Given the description of an element on the screen output the (x, y) to click on. 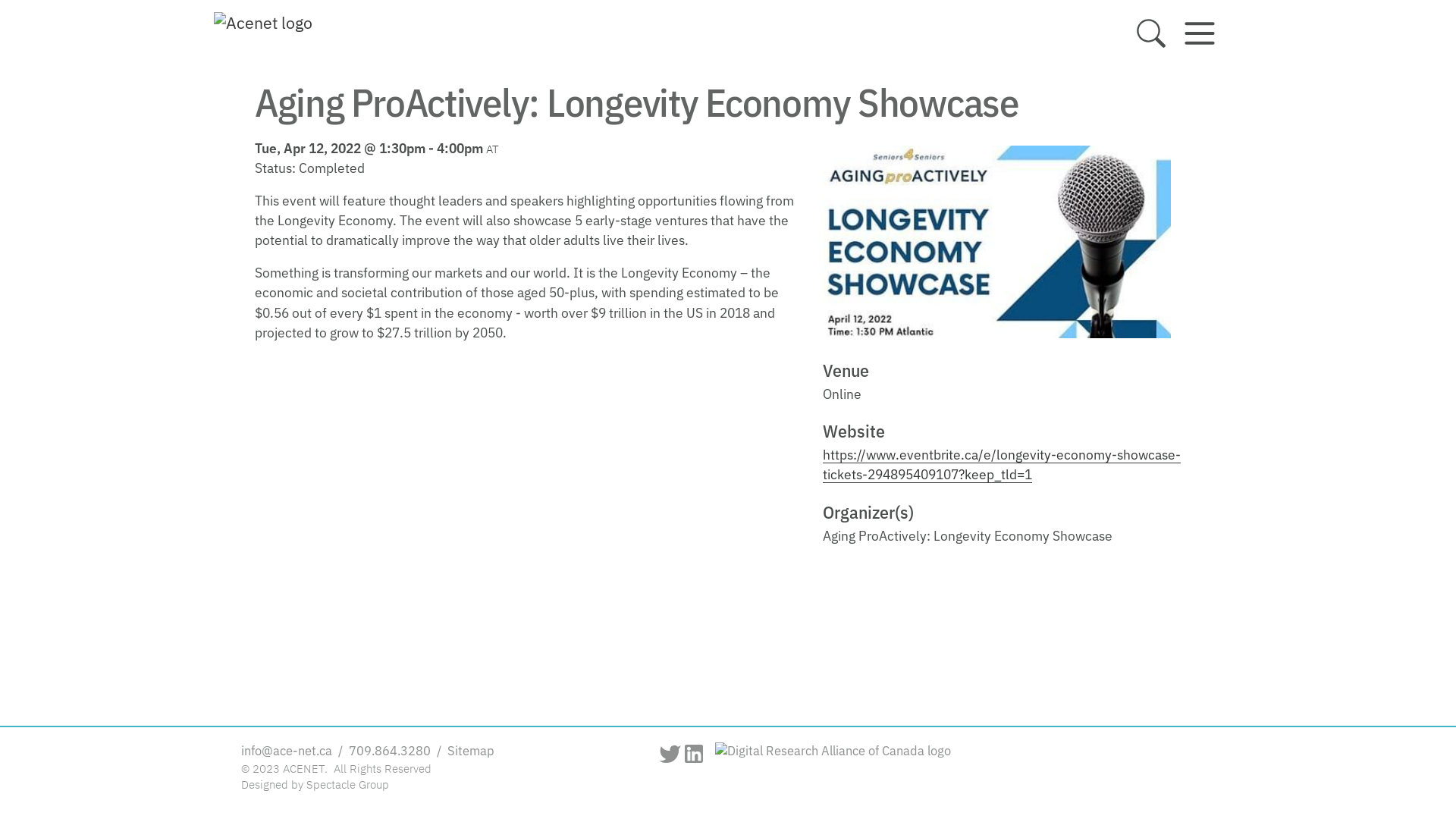
Sitemap Element type: text (469, 751)
info@ace-net.ca Element type: text (288, 751)
709.864.3280 Element type: text (389, 751)
Designed by Spectacle Group Element type: text (315, 785)
Digital Research Alliance of Canada Element type: hover (958, 768)
